Given the description of an element on the screen output the (x, y) to click on. 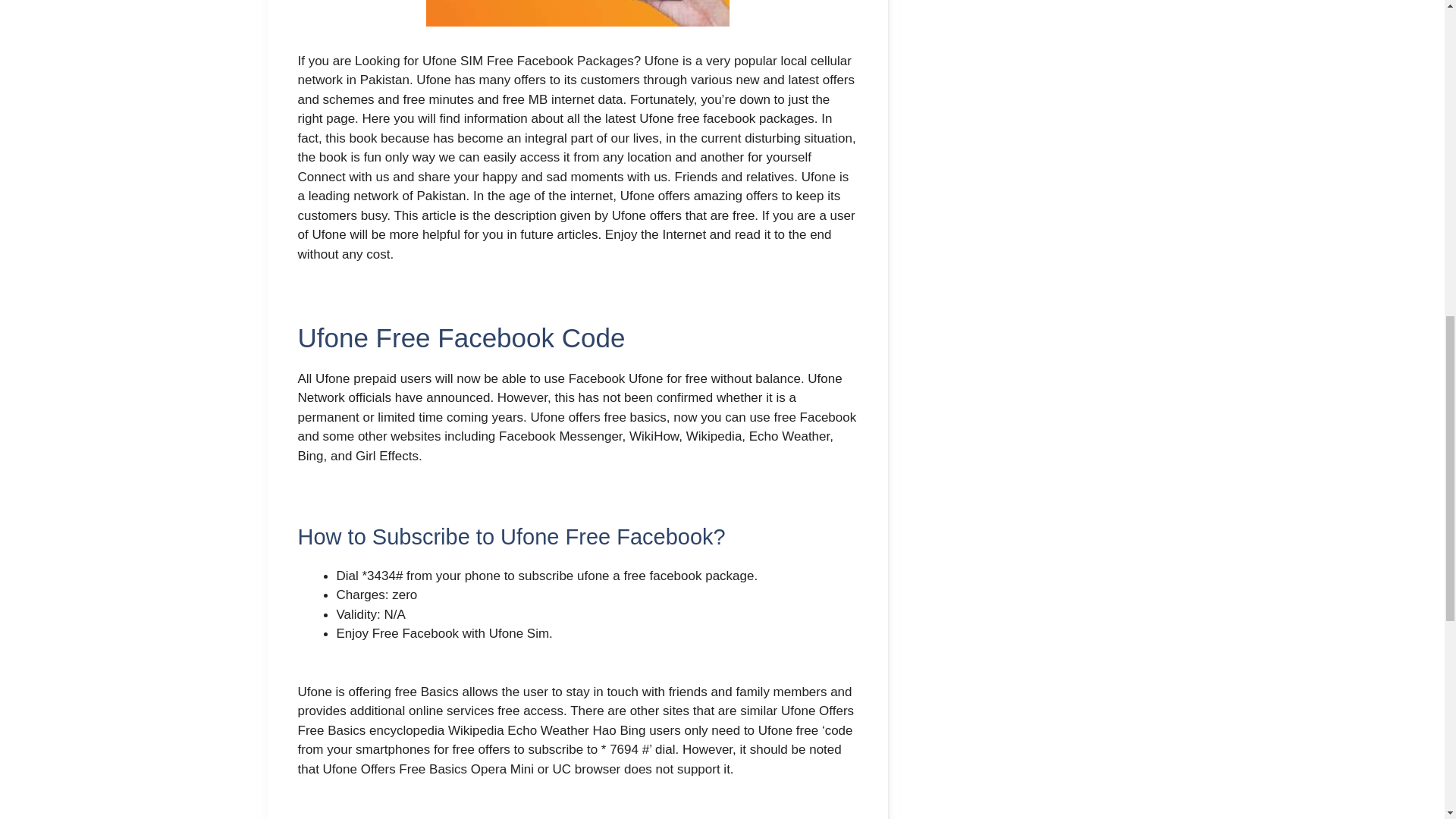
Ufone Free Facebook code (577, 13)
Scroll back to top (1406, 720)
